Given the description of an element on the screen output the (x, y) to click on. 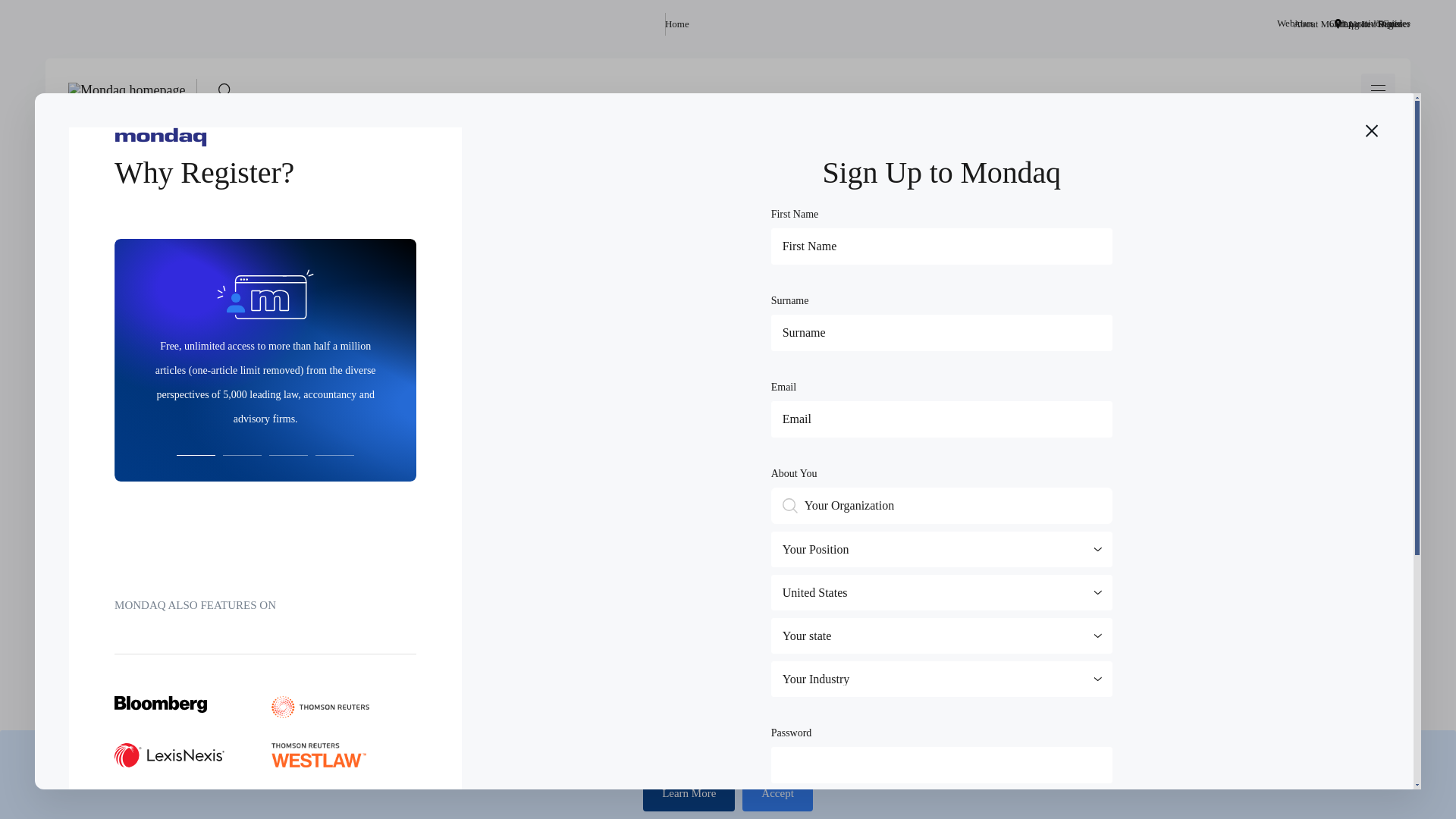
Webinars (1295, 23)
Comparative Guides (1369, 23)
About Mondaq (1324, 24)
Home (676, 24)
